Given the description of an element on the screen output the (x, y) to click on. 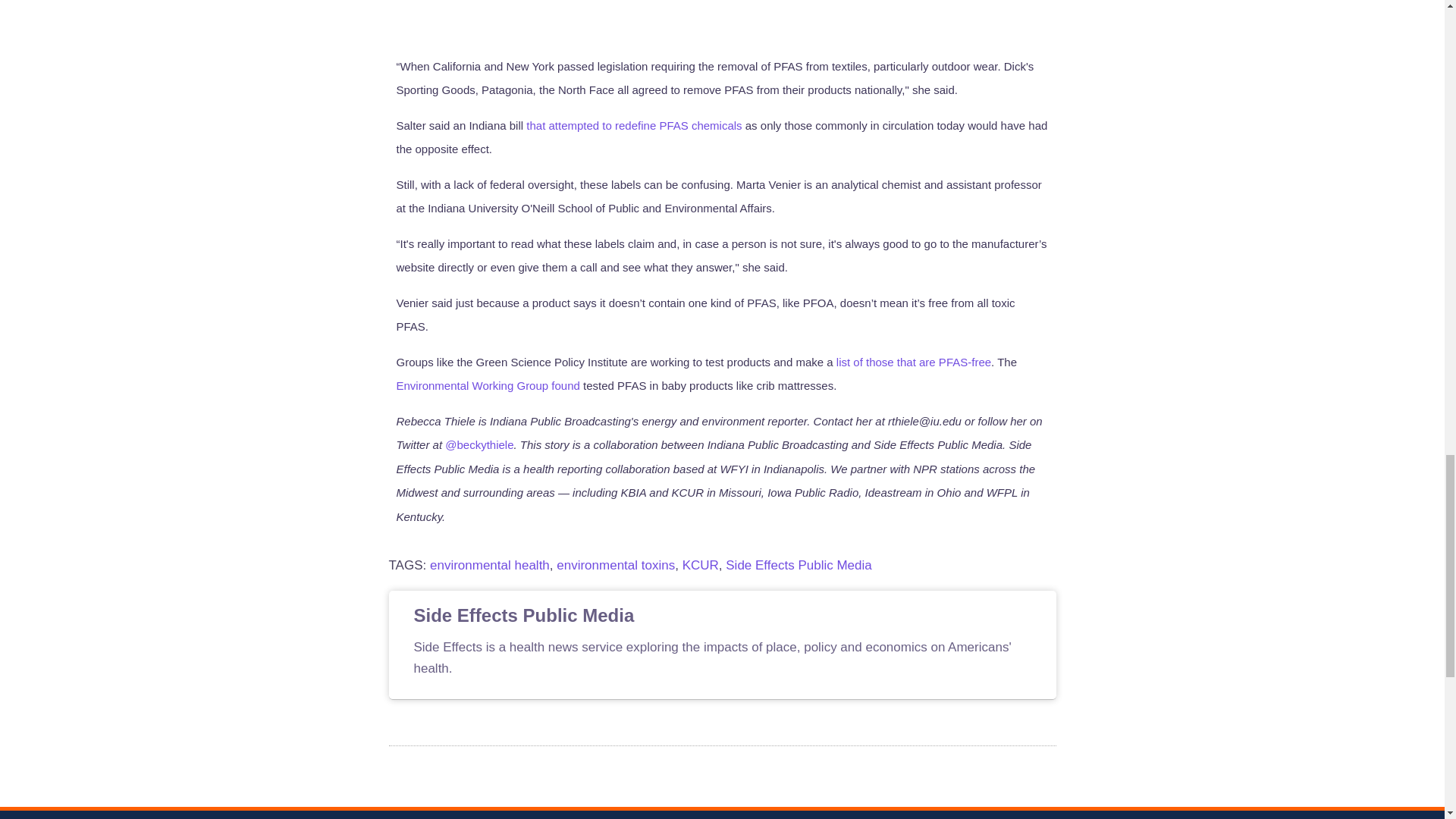
KCUR (700, 564)
Environmental Working Group found (487, 385)
environmental toxins (615, 564)
that attempted to redefine PFAS chemicals (633, 124)
Legislation targeting PFAS  (722, 17)
list of those that are PFAS-free (913, 361)
environmental health (489, 564)
Side Effects Public Media (797, 564)
